Given the description of an element on the screen output the (x, y) to click on. 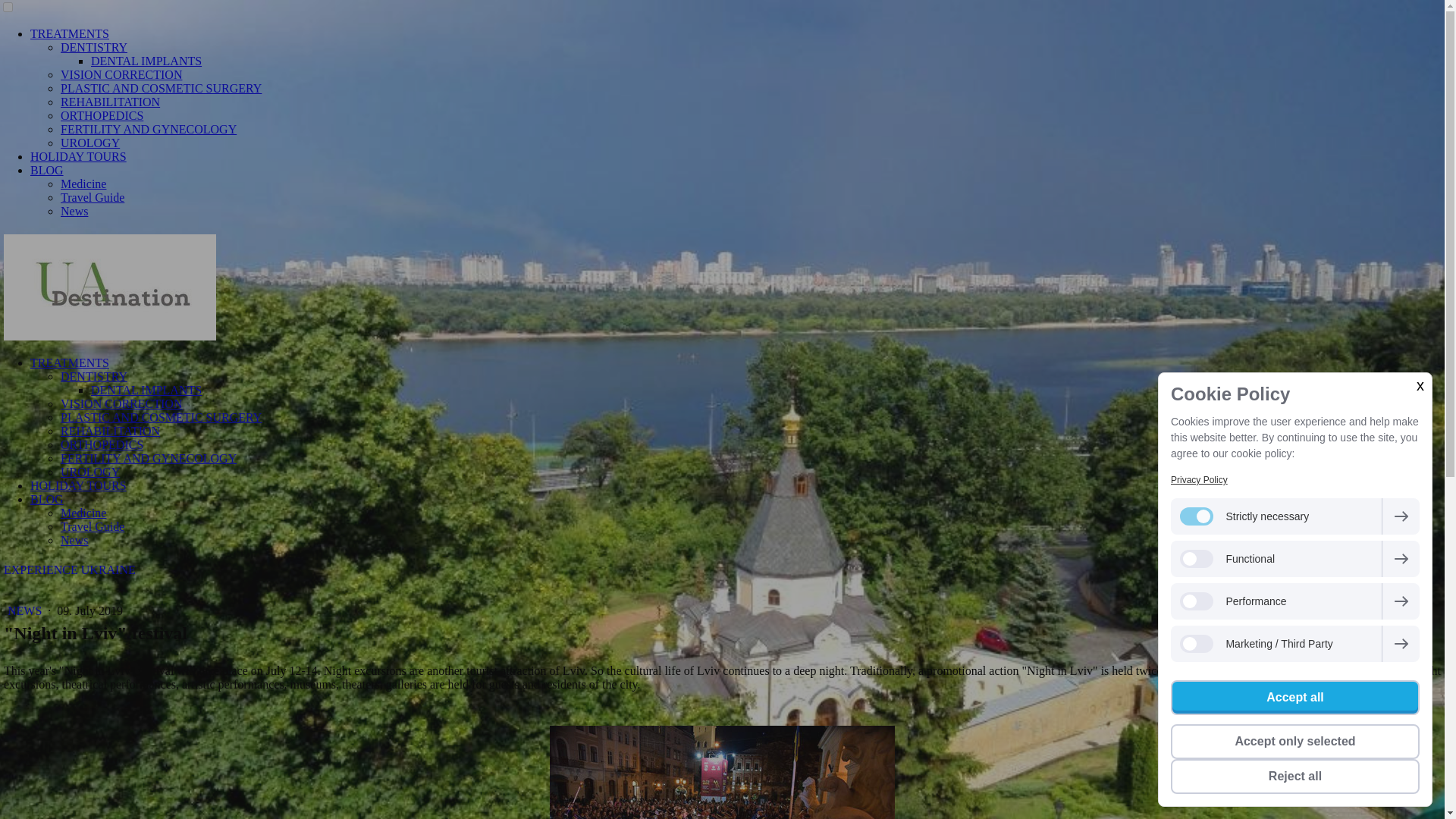
Travel Guide (92, 196)
BLOG (47, 169)
VISION CORRECTION (121, 403)
ORTHOPEDICS (101, 444)
TREATMENTS (69, 33)
NEWS (26, 610)
PLASTIC AND COSMETIC SURGERY (161, 88)
REHABILITATION (110, 431)
BLOG (47, 499)
